Given the description of an element on the screen output the (x, y) to click on. 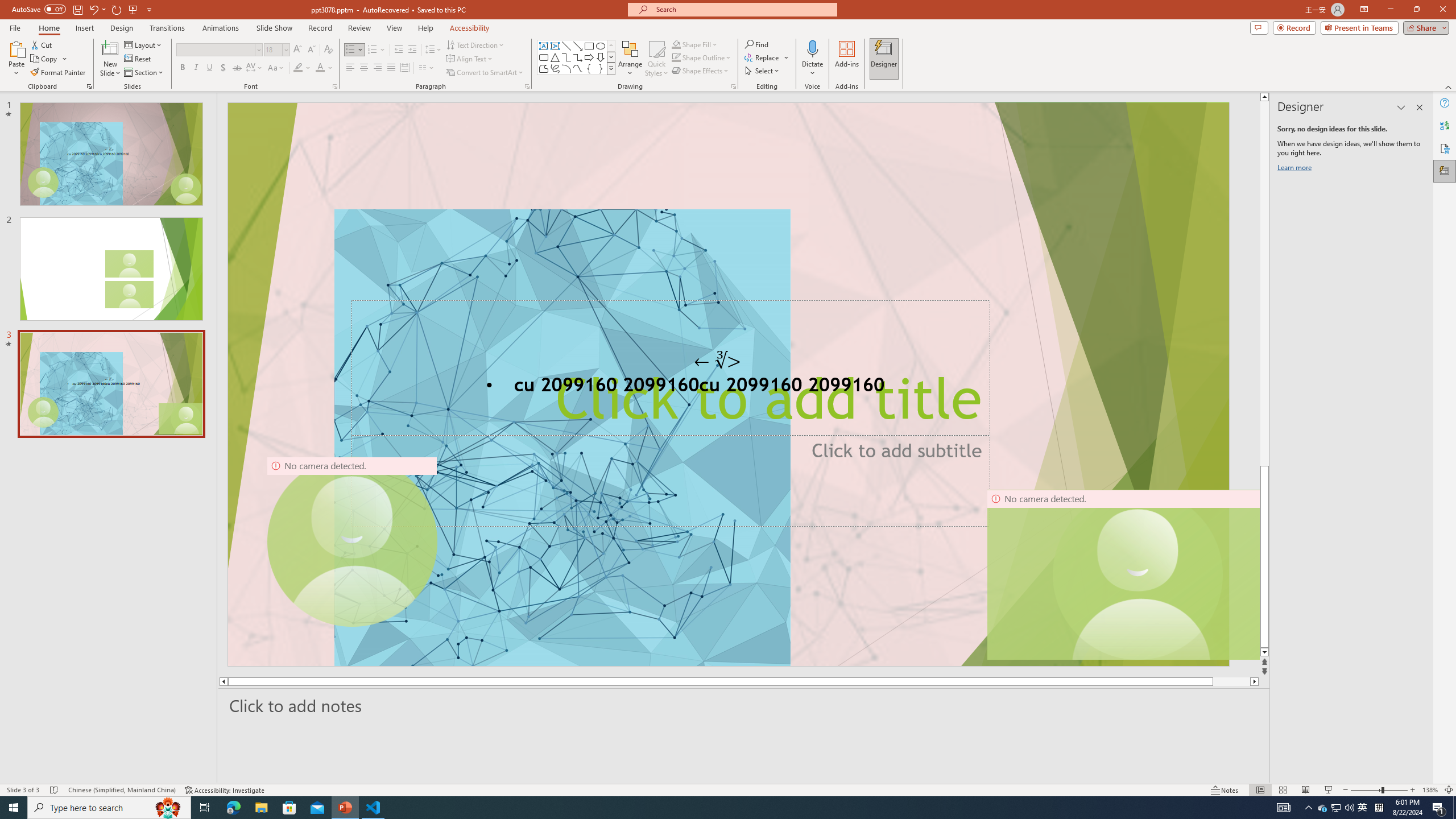
Camera 11, No camera detected. (1138, 574)
An abstract genetic concept (728, 384)
